Given the description of an element on the screen output the (x, y) to click on. 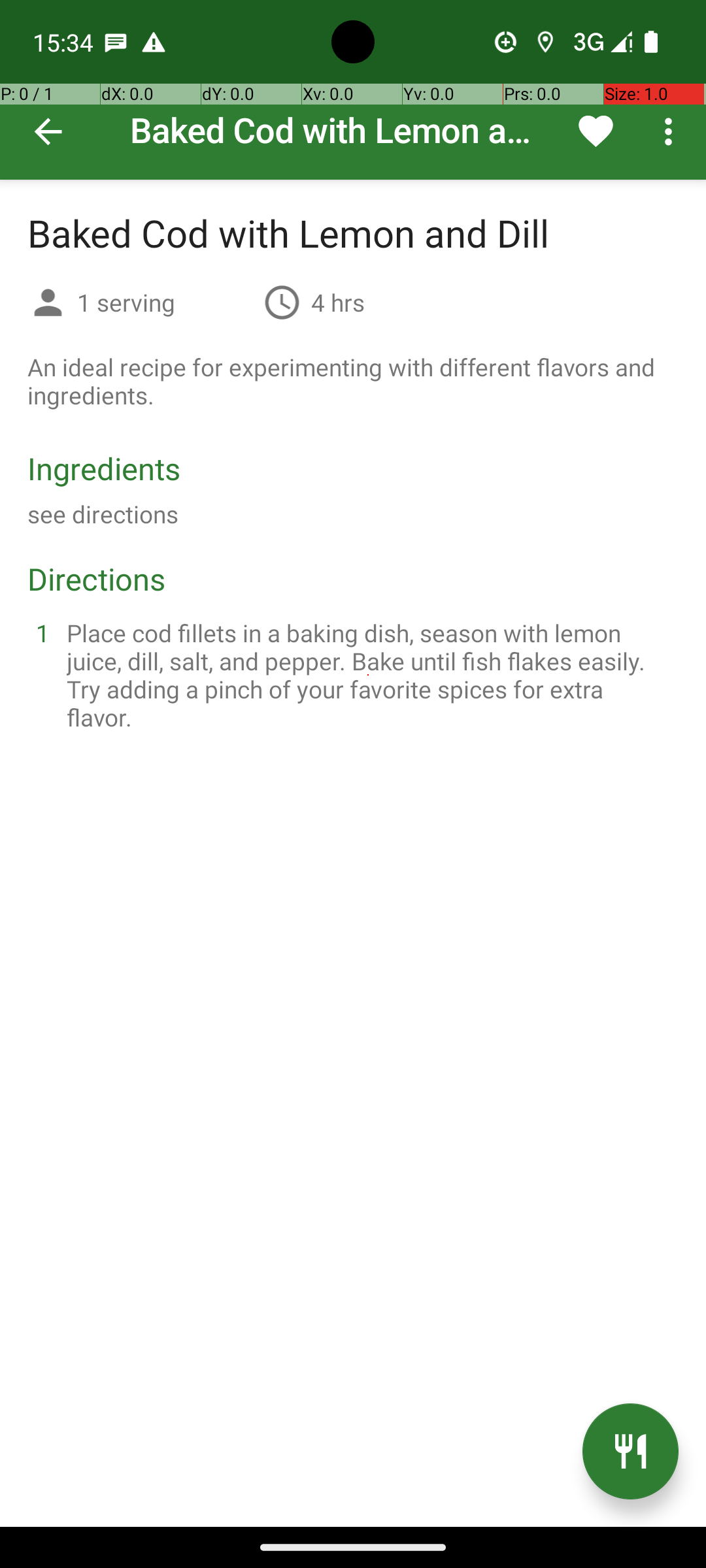
Baked Cod with Lemon and Dill Element type: android.widget.FrameLayout (353, 89)
Remove from favorites Element type: android.widget.Button (595, 131)
1 serving Element type: android.widget.TextView (164, 301)
4 hrs Element type: android.widget.TextView (337, 301)
see directions Element type: android.widget.TextView (102, 513)
Place cod fillets in a baking dish, season with lemon juice, dill, salt, and pepper. Bake until fish flakes easily. Try adding a pinch of your favorite spices for extra flavor. Element type: android.widget.TextView (368, 674)
